Given the description of an element on the screen output the (x, y) to click on. 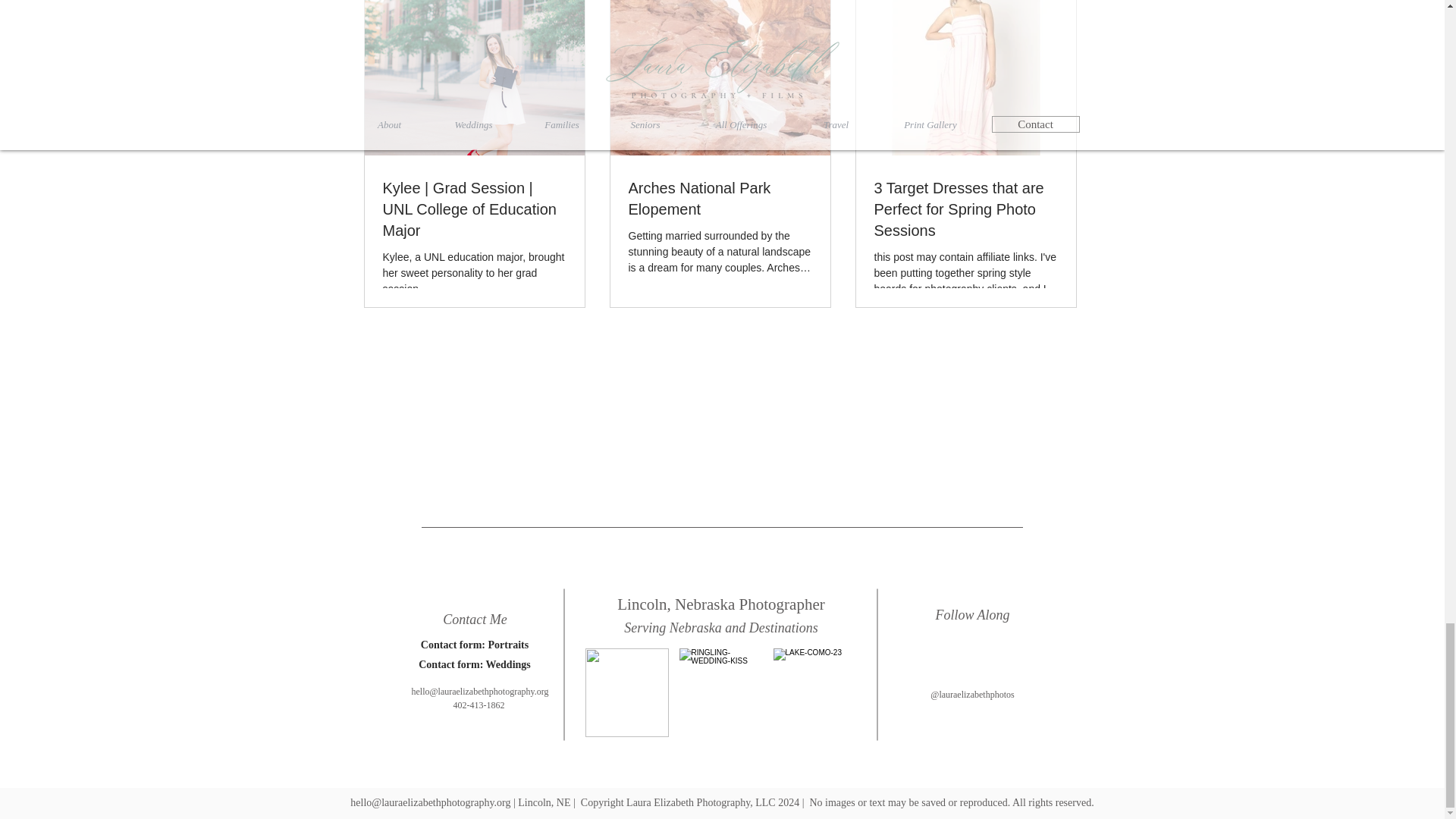
spring-photo-22 (815, 692)
spring-photo-22 (626, 692)
spring-photo-22 (720, 692)
